Given the description of an element on the screen output the (x, y) to click on. 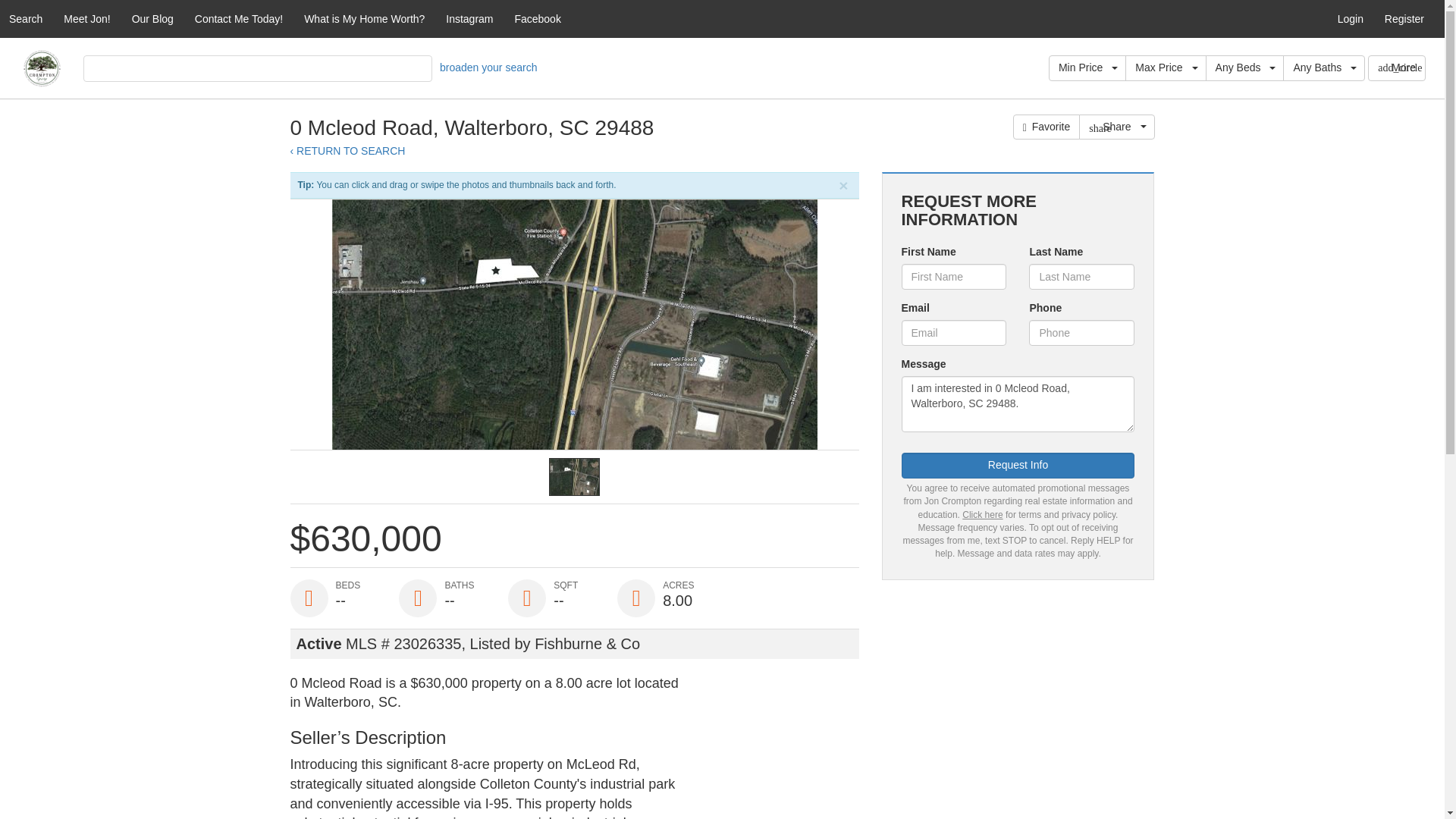
Instagram (469, 18)
Facebook (537, 18)
Register (1403, 18)
Our Blog (152, 18)
Meet Jon! (87, 18)
Login (1350, 18)
What is My Home Worth? (364, 18)
broaden your search (488, 67)
Min Price (1086, 68)
Contact Me Today! (239, 18)
Search (25, 18)
